Given the description of an element on the screen output the (x, y) to click on. 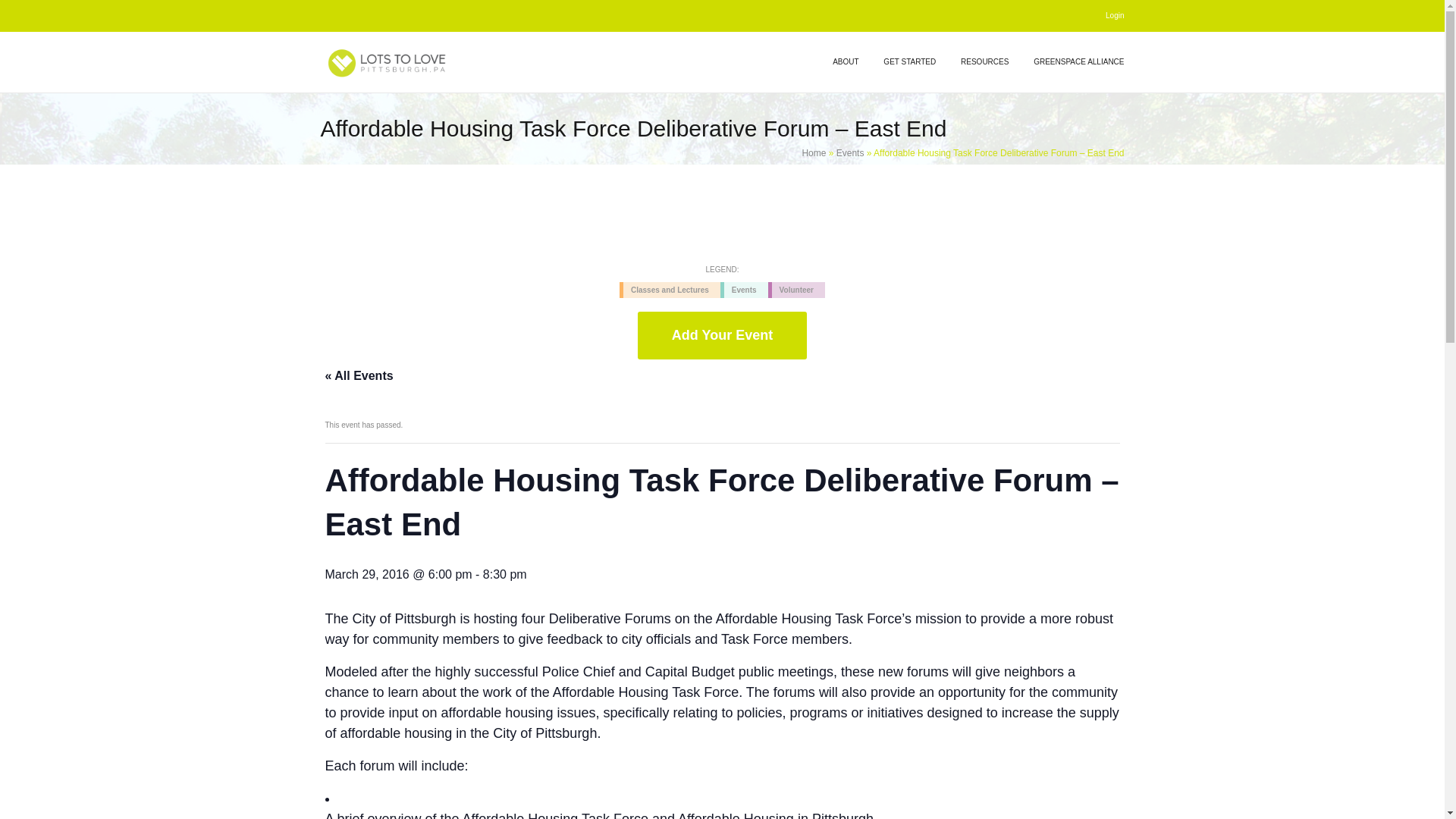
RESOURCES (984, 61)
GET STARTED (909, 61)
Home (813, 153)
ABOUT (845, 61)
Events (849, 153)
GREENSPACE ALLIANCE (1073, 61)
Add Your Event (721, 335)
Login (1114, 15)
